Given the description of an element on the screen output the (x, y) to click on. 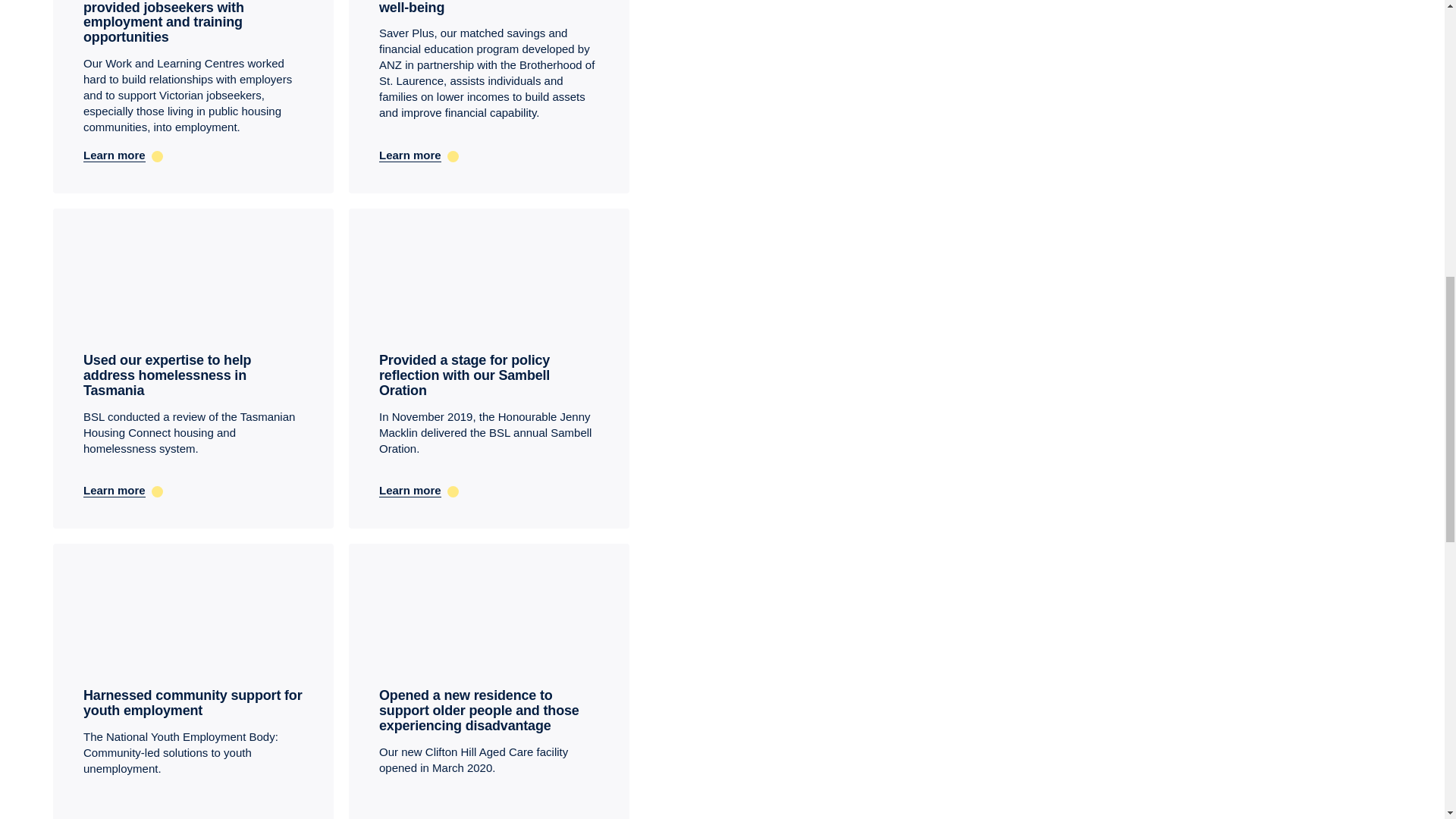
Used our expertise to help address homelessness in Tasmania (166, 375)
Learn more (192, 154)
Helped people with their financial well-being (484, 7)
Harnessed community support for youth employment (191, 702)
Learn more (488, 489)
Learn more (488, 154)
